Given the description of an element on the screen output the (x, y) to click on. 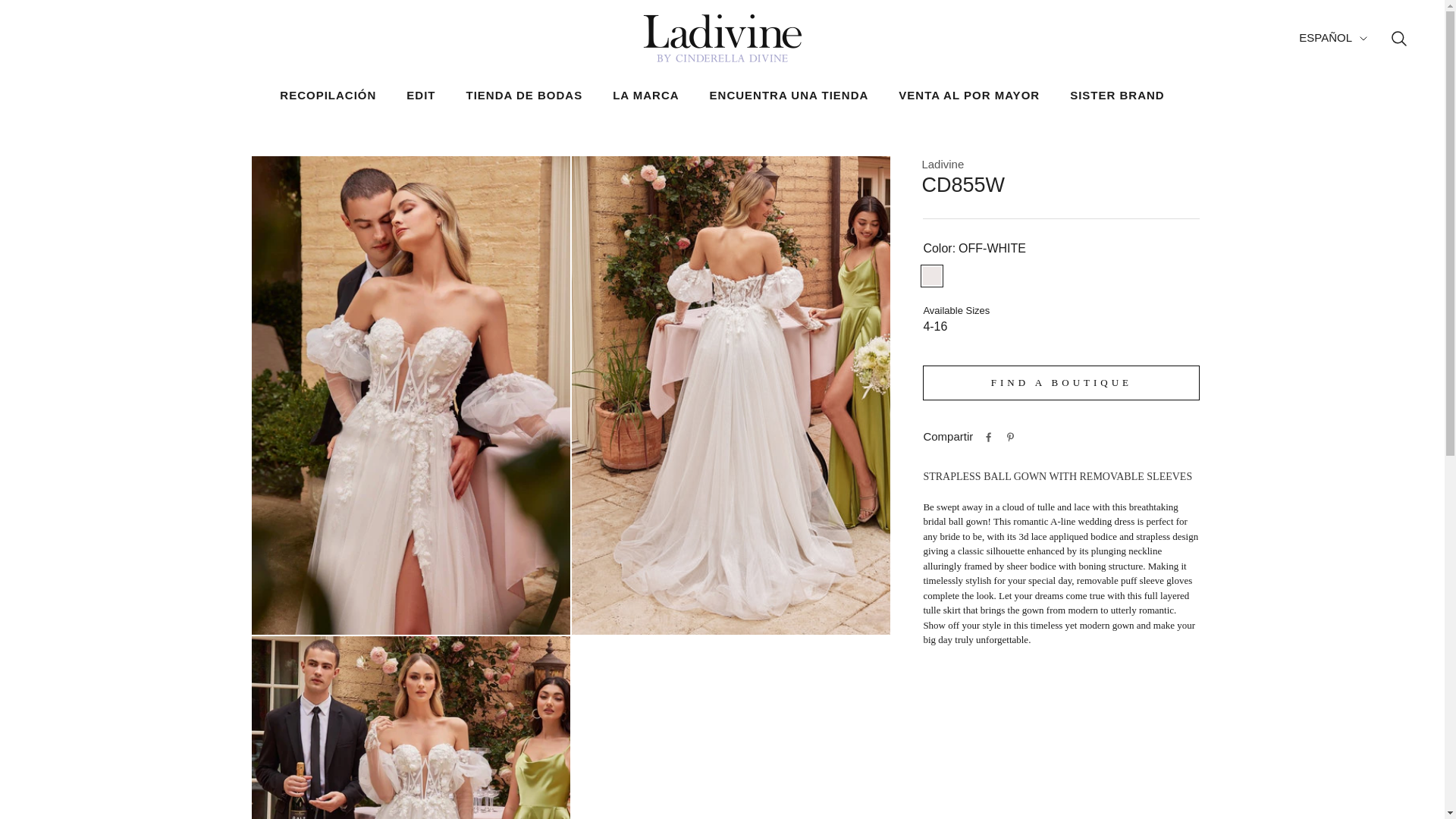
Ladivine by Cinderella Divine (722, 38)
SISTER BRAND (1117, 95)
